Given the description of an element on the screen output the (x, y) to click on. 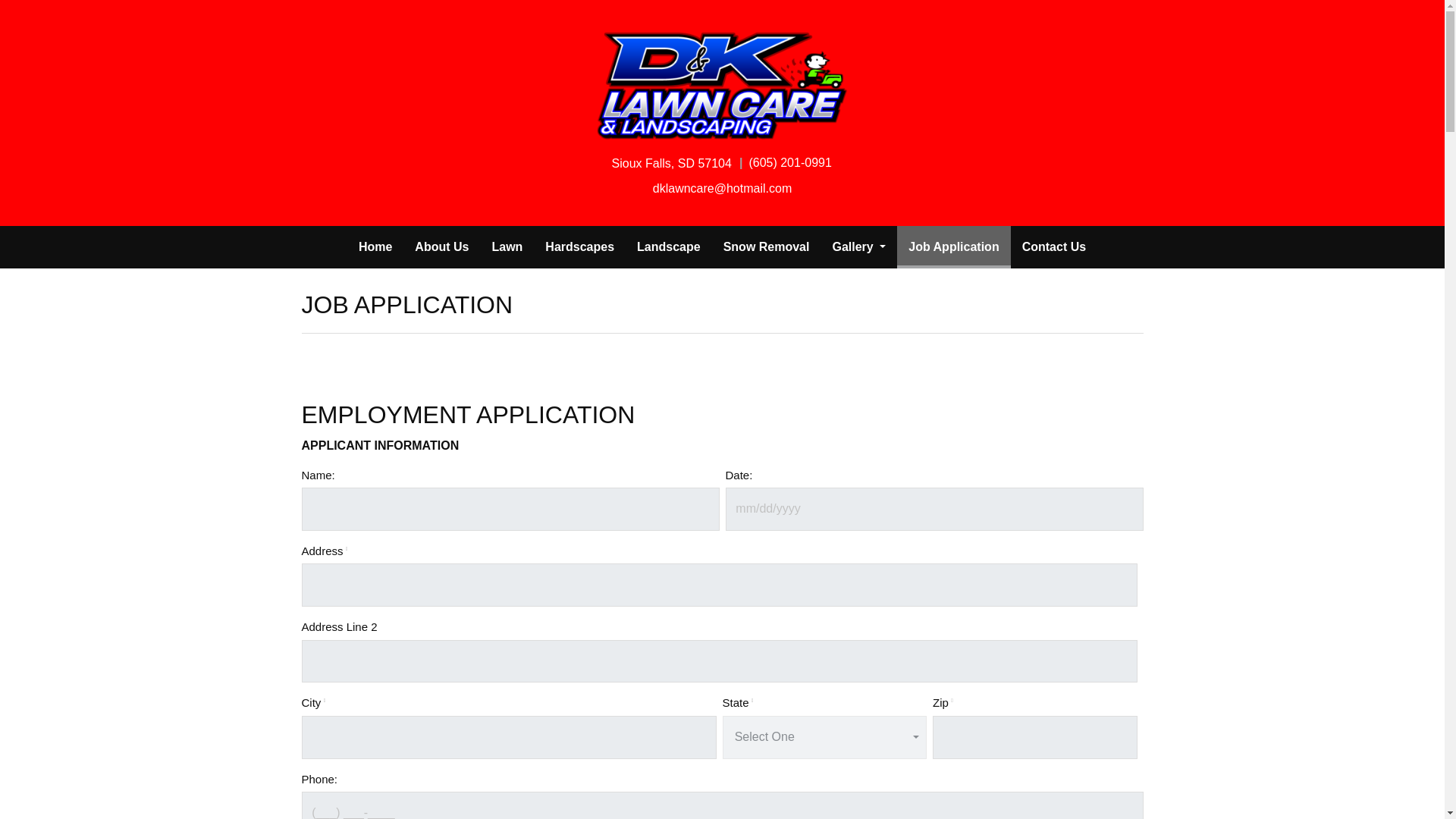
Home (375, 247)
Lawn (507, 247)
About Us (441, 247)
Select One (824, 737)
Gallery (858, 247)
Hardscapes (580, 247)
Select One (824, 737)
Contact Us (1053, 247)
Landscape (668, 247)
Snow Removal (766, 247)
